Given the description of an element on the screen output the (x, y) to click on. 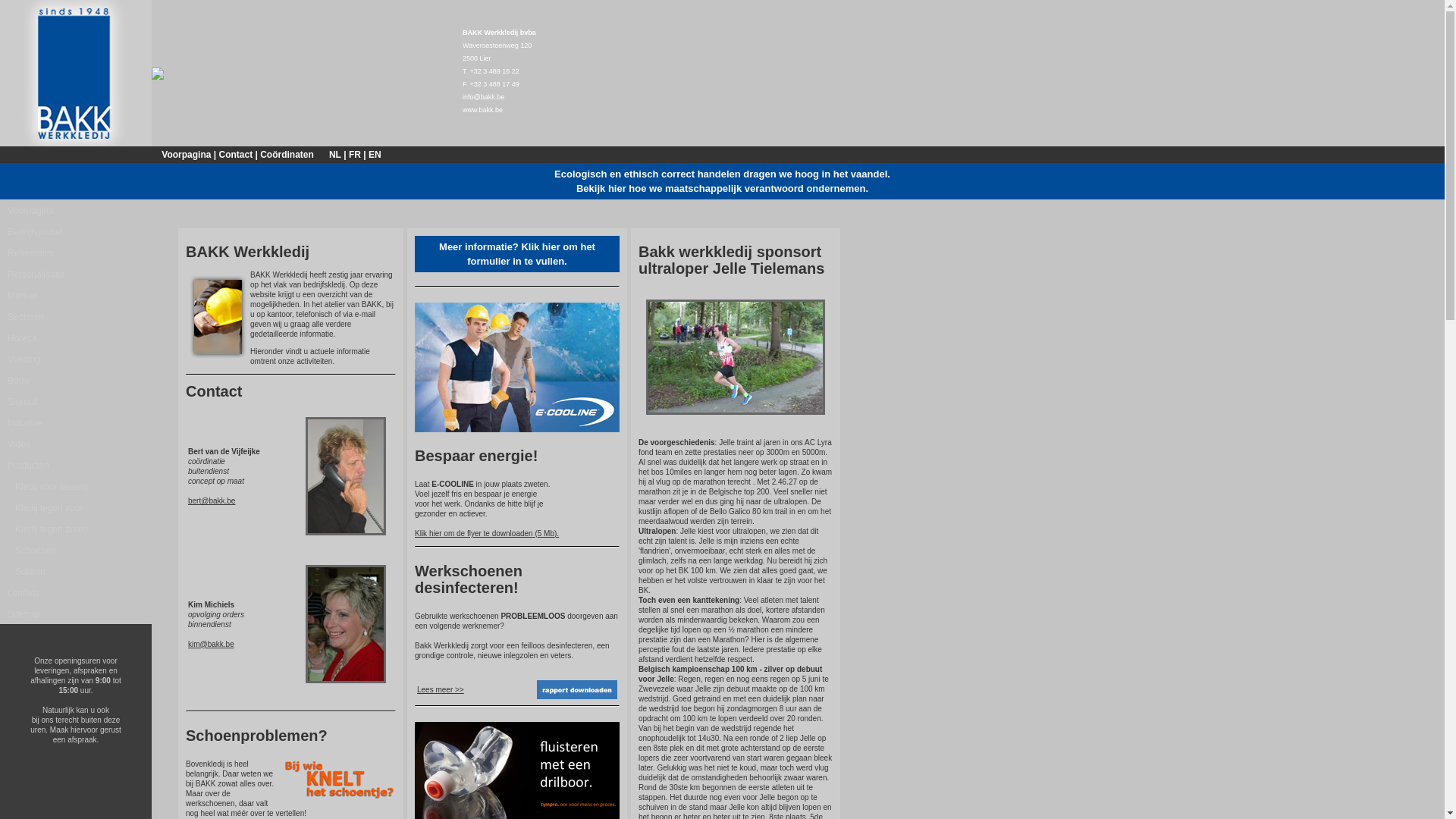
Schoenen Element type: text (75, 549)
FR Element type: text (354, 153)
info@bakk.be Element type: text (483, 96)
Voorpagina Element type: text (75, 209)
Signaal Element type: text (75, 400)
EN Element type: text (374, 153)
Industrie Element type: text (75, 422)
Sectoren Element type: text (75, 315)
Producten Element type: text (75, 464)
Personalisatie Element type: text (75, 273)
bert@bakk.be Element type: text (211, 500)
Voeding Element type: text (75, 358)
Kledij tegen vuur Element type: text (75, 506)
Sitemap Element type: text (75, 613)
Voorpagina Element type: text (185, 153)
Video Element type: text (75, 443)
Sokken Element type: text (75, 570)
Merken Element type: text (75, 294)
Lees meer >> Element type: text (440, 689)
NL Element type: text (335, 153)
Contact Element type: text (235, 153)
Leaflets Element type: text (75, 591)
www.bakk.be Element type: text (482, 109)
Klik hier om de flyer te downloaden (5 Mb). Element type: text (486, 533)
Kledij tegen zuren Element type: text (75, 528)
Bedrijfsprofiel Element type: text (75, 230)
kim@bakk.be Element type: text (211, 644)
Horeca Element type: text (75, 337)
Referenties Element type: text (75, 252)
Meer informatie? Klik hier om het formulier in te vullen. Element type: text (517, 253)
Bouw Element type: text (75, 379)
Kledij voor lassers Element type: text (75, 485)
